Given the description of an element on the screen output the (x, y) to click on. 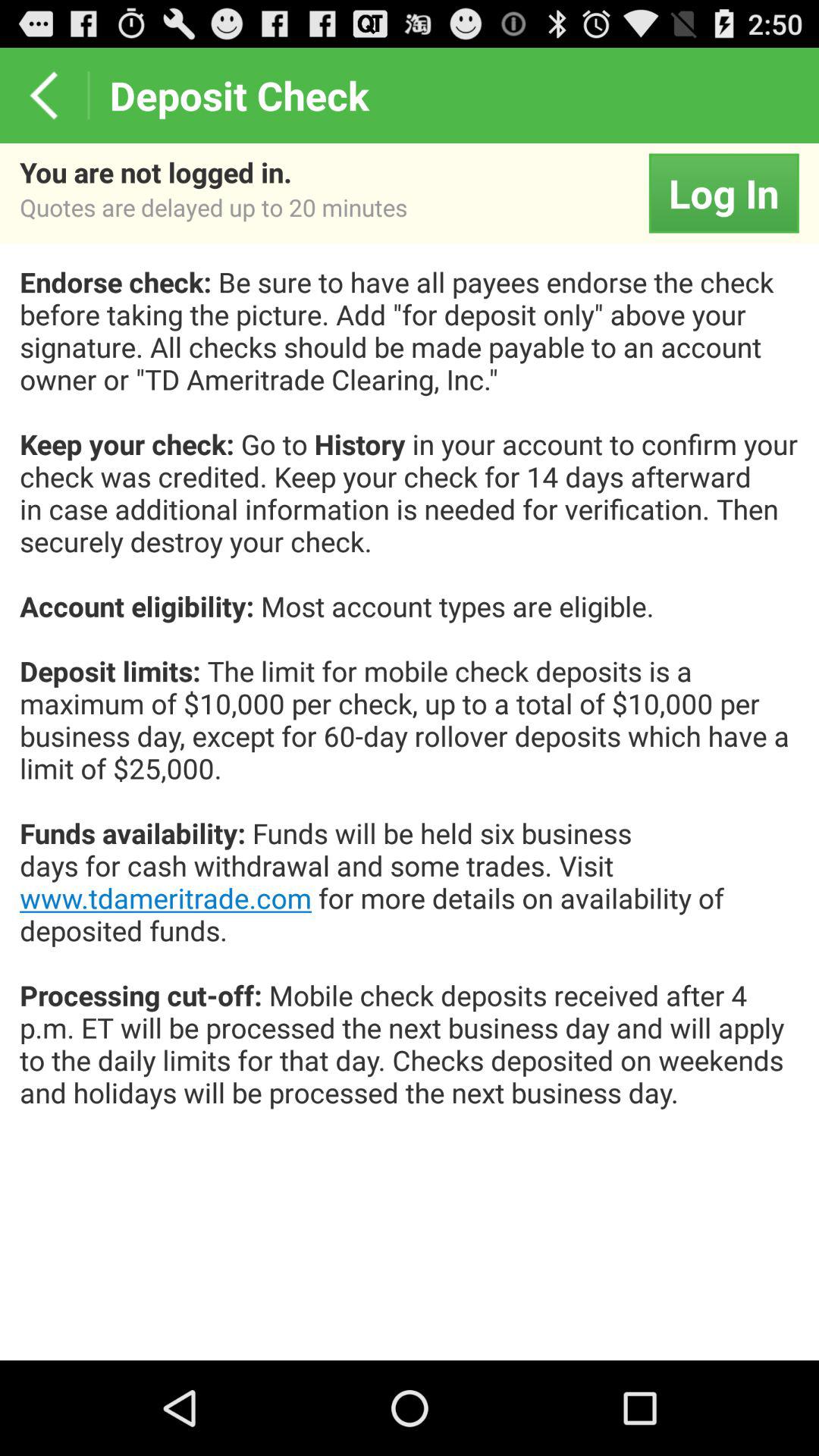
launch the icon below log in (409, 703)
